Given the description of an element on the screen output the (x, y) to click on. 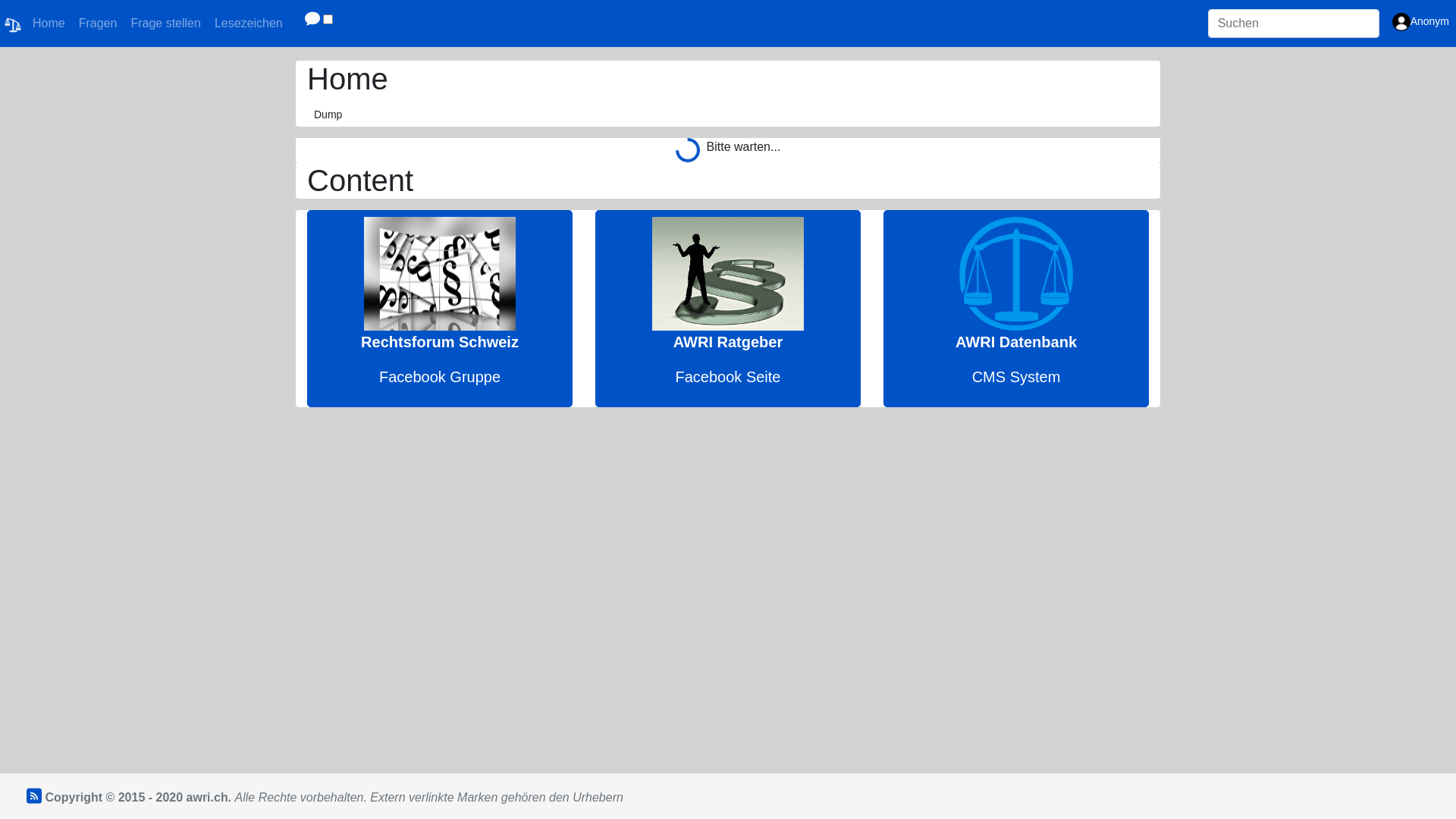
AWRI Ratgeber
Facebook Seite Element type: text (727, 308)
Zur Startseite Element type: hover (12, 23)
Frage stellen
(current) Element type: text (165, 23)
Rechtsforum Schweiz
Facebook Gruppe Element type: text (439, 308)
Lesezeichen
(current) Element type: text (248, 23)
Home
(current) Element type: text (48, 23)
RSS Feed abonnieren Element type: hover (26, 796)
Sprachausgabe einschalten Element type: hover (310, 23)
Fragen
(current) Element type: text (98, 23)
Dump Element type: text (327, 114)
AWRI Datenbank
CMS System Element type: text (1015, 308)
